Given the description of an element on the screen output the (x, y) to click on. 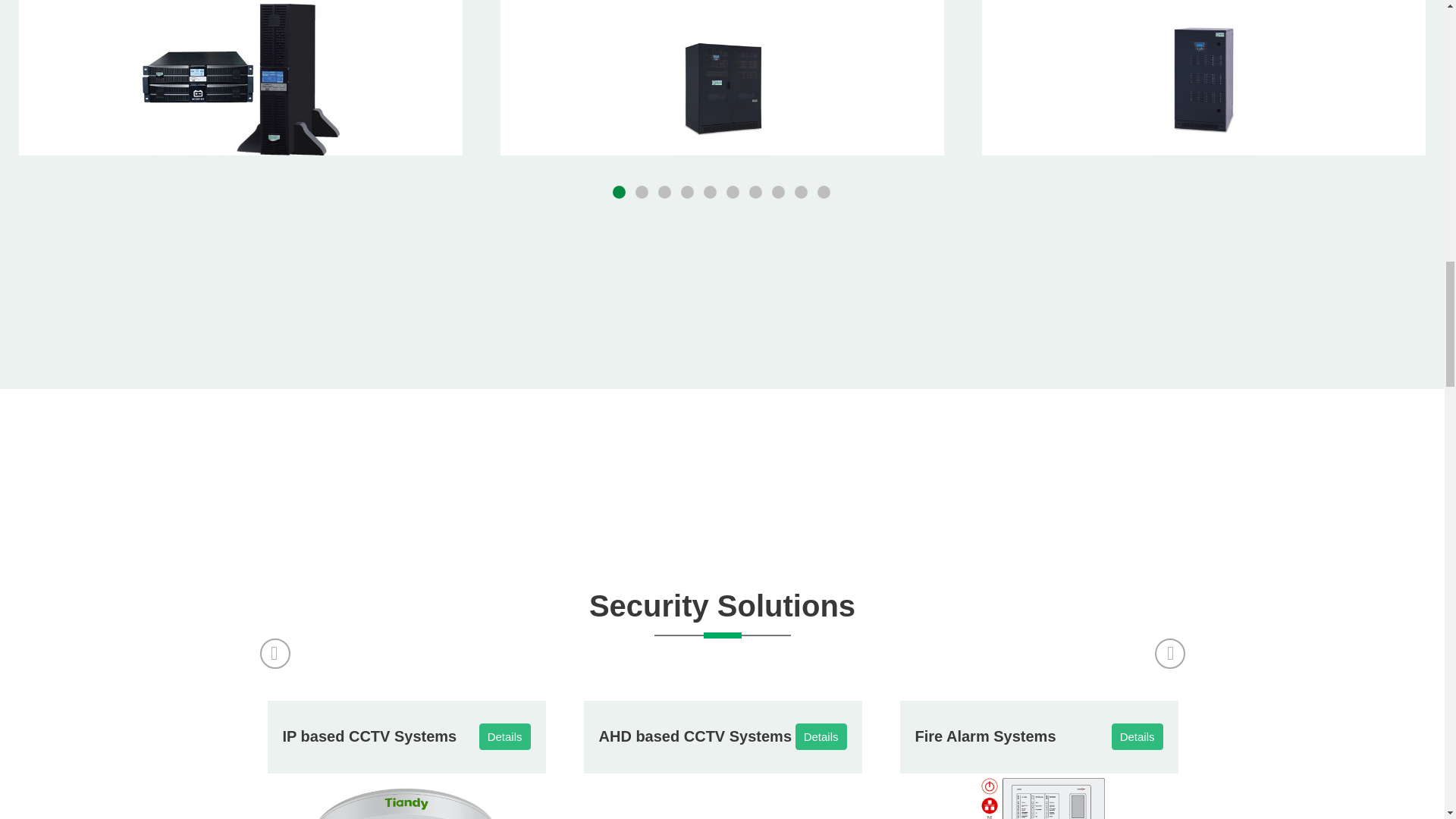
9 (801, 192)
3 (665, 192)
10 (824, 192)
2 (642, 192)
1 (619, 192)
5 (711, 192)
4 (688, 192)
6 (733, 192)
8 (779, 192)
7 (756, 192)
